Given the description of an element on the screen output the (x, y) to click on. 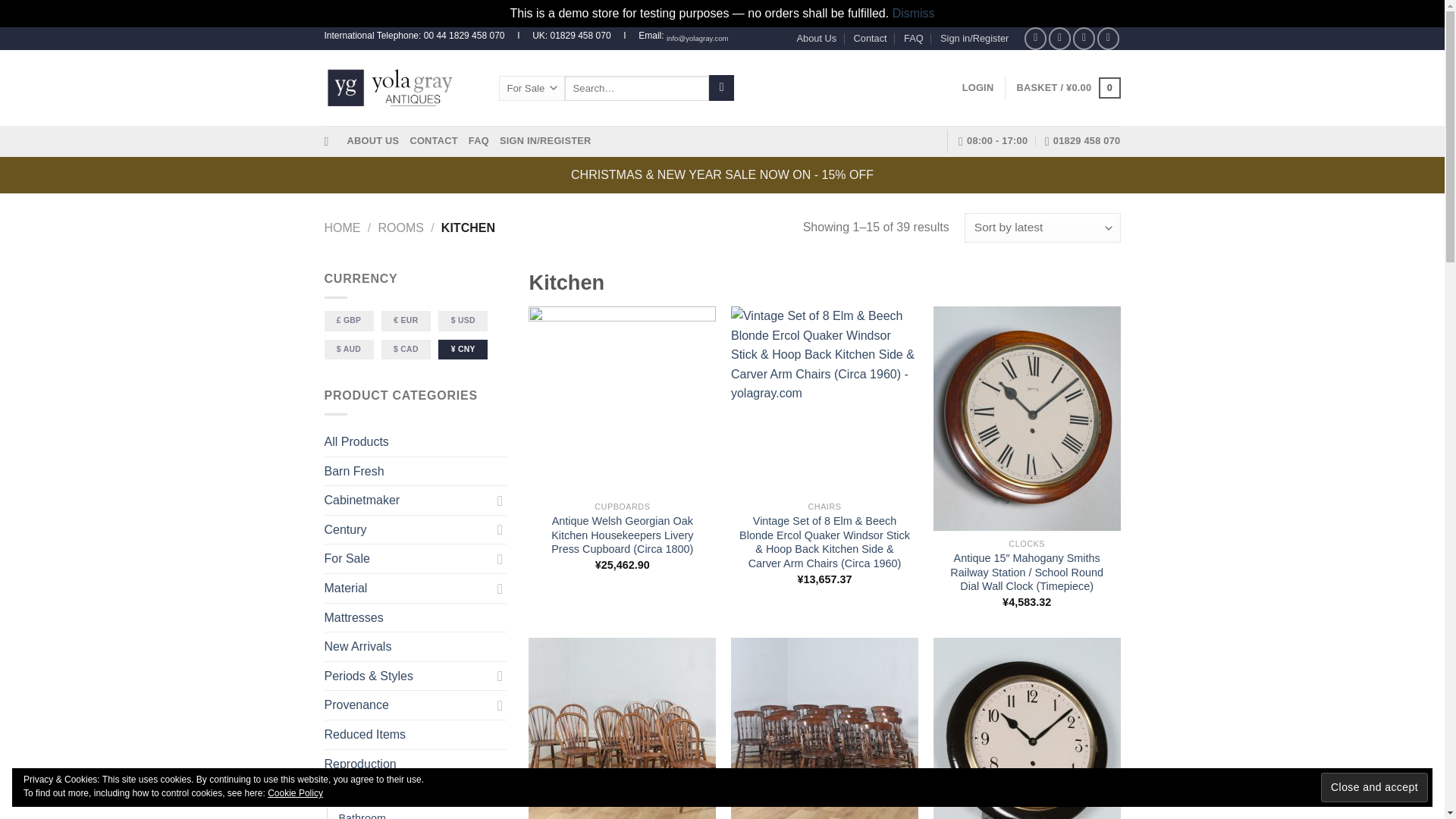
08:00 - 17:00 (992, 141)
ABOUT US (372, 140)
Contact (869, 38)
Dismiss (913, 12)
CONTACT (433, 140)
Follow on Instagram (1059, 38)
Close and accept (1374, 787)
ROOMS (400, 227)
Follow on Twitter (1083, 38)
Basket (1067, 87)
Follow on Pinterest (1108, 38)
01829 458 070 (1083, 141)
Follow on Facebook (1035, 38)
HOME (342, 227)
08:00 - 17:00  (992, 141)
